Given the description of an element on the screen output the (x, y) to click on. 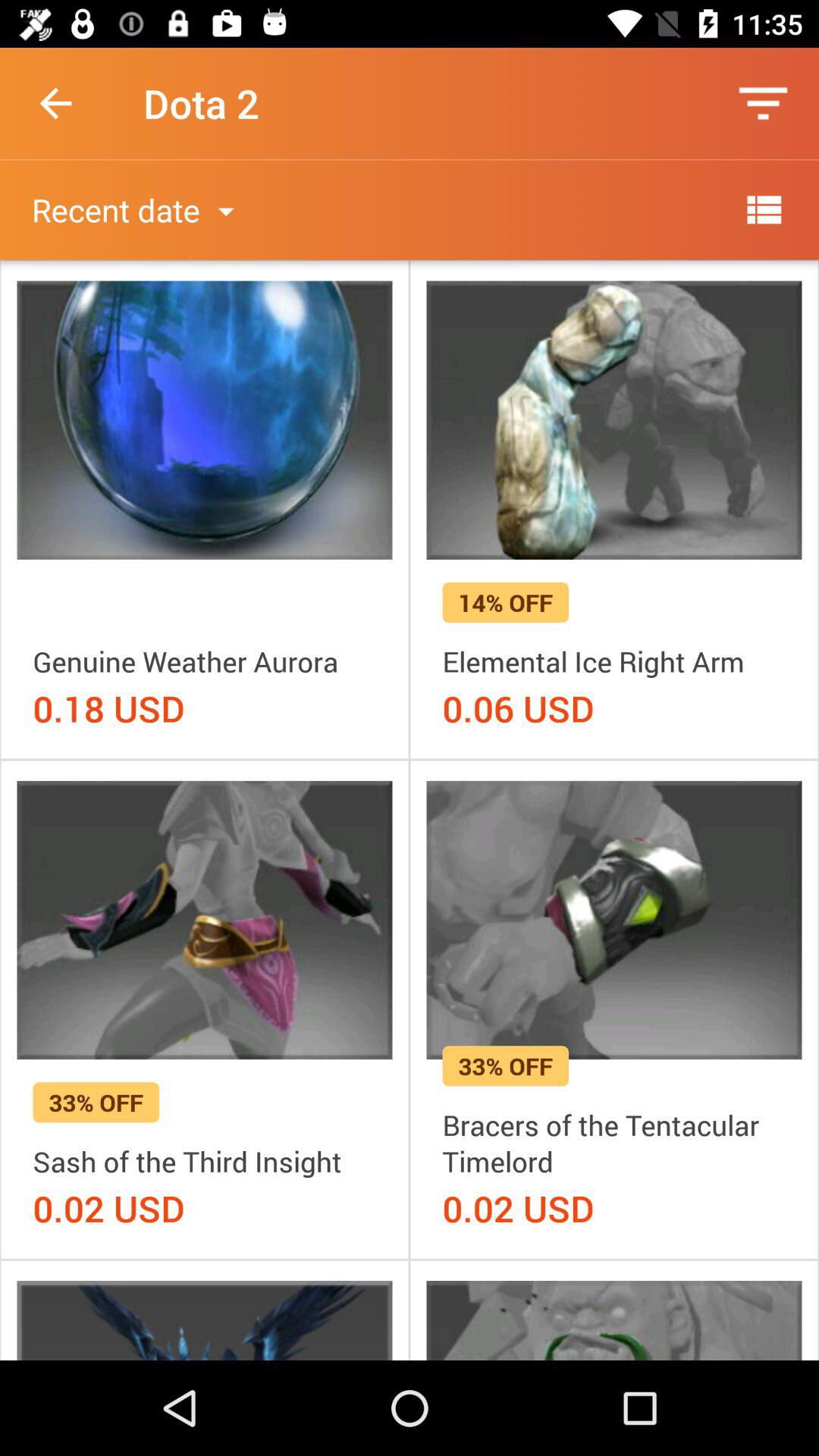
turn on the icon next to the recent date icon (763, 209)
